Given the description of an element on the screen output the (x, y) to click on. 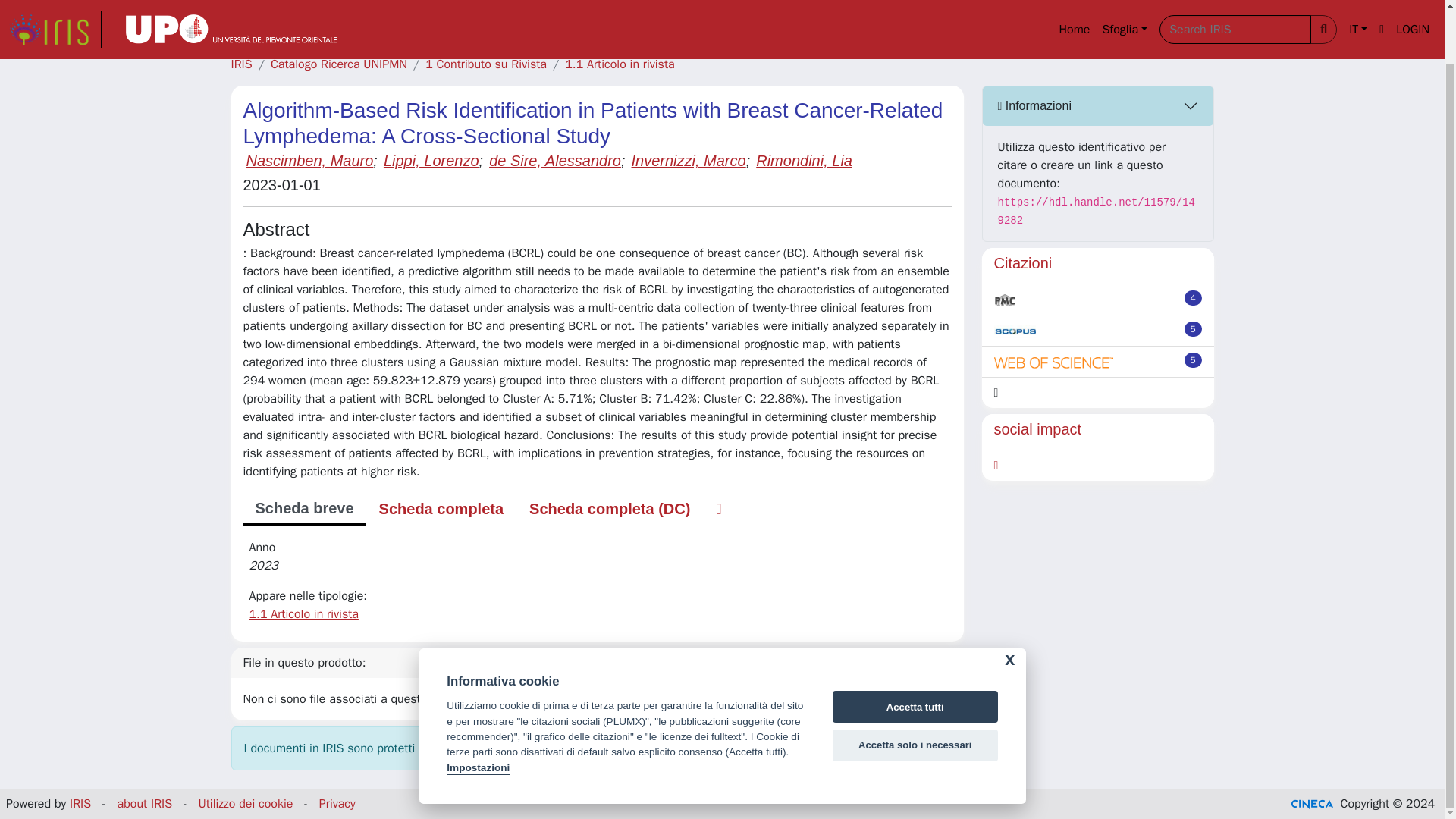
Scheda breve (304, 509)
Lippi, Lorenzo (431, 160)
1 Contributo su Rivista (486, 64)
 Informazioni (1097, 106)
Rimondini, Lia (803, 160)
1.1 Articolo in rivista (303, 613)
IRIS (240, 64)
Invernizzi, Marco (687, 160)
1.1 Articolo in rivista (619, 64)
Nascimben, Mauro (309, 160)
Scheda completa (441, 508)
de Sire, Alessandro (555, 160)
aggiornato in data 06-05-2024 15:08 (1193, 297)
Catalogo Ricerca UNIPMN (338, 64)
